Given the description of an element on the screen output the (x, y) to click on. 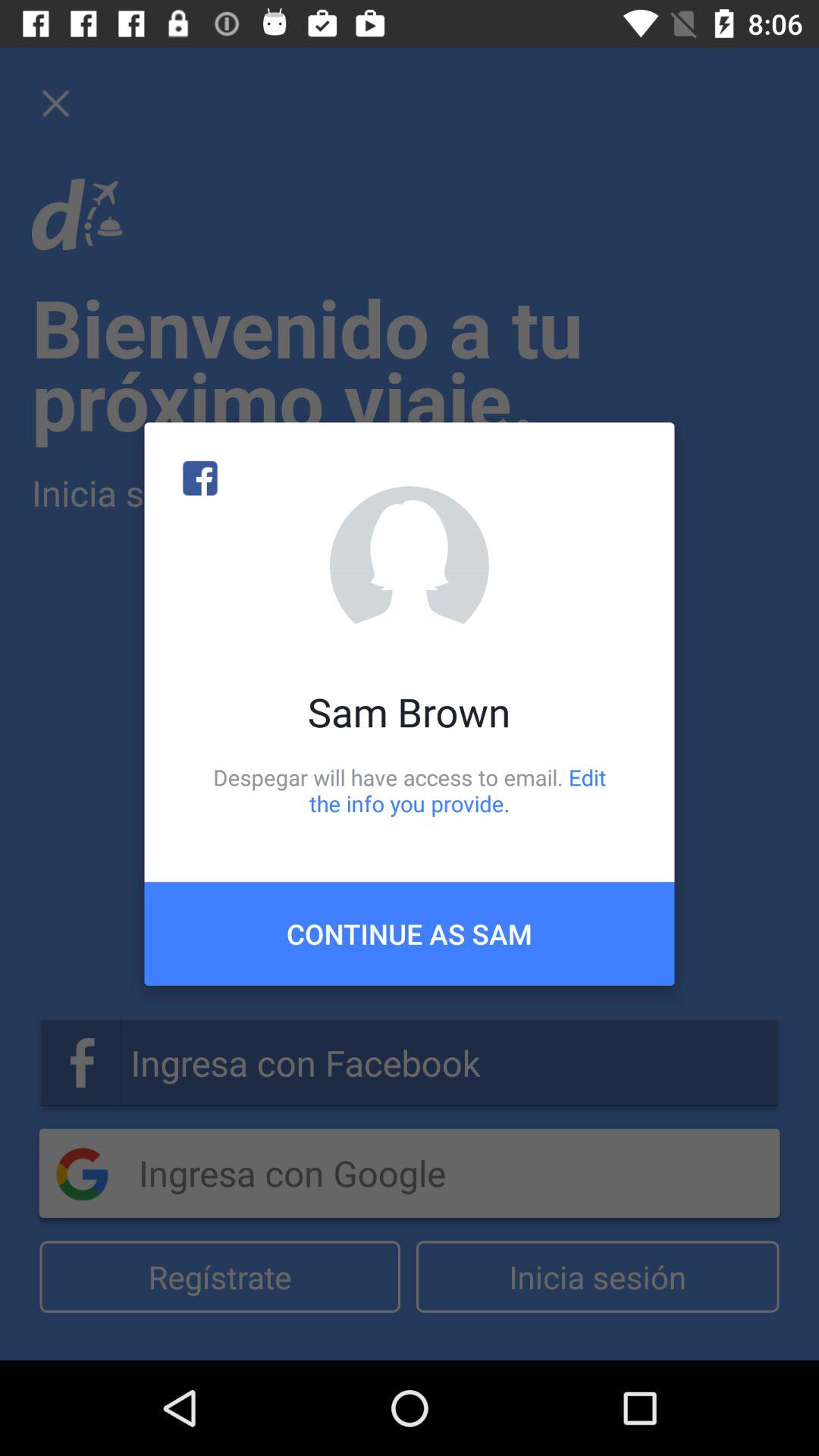
scroll until the continue as sam item (409, 933)
